Given the description of an element on the screen output the (x, y) to click on. 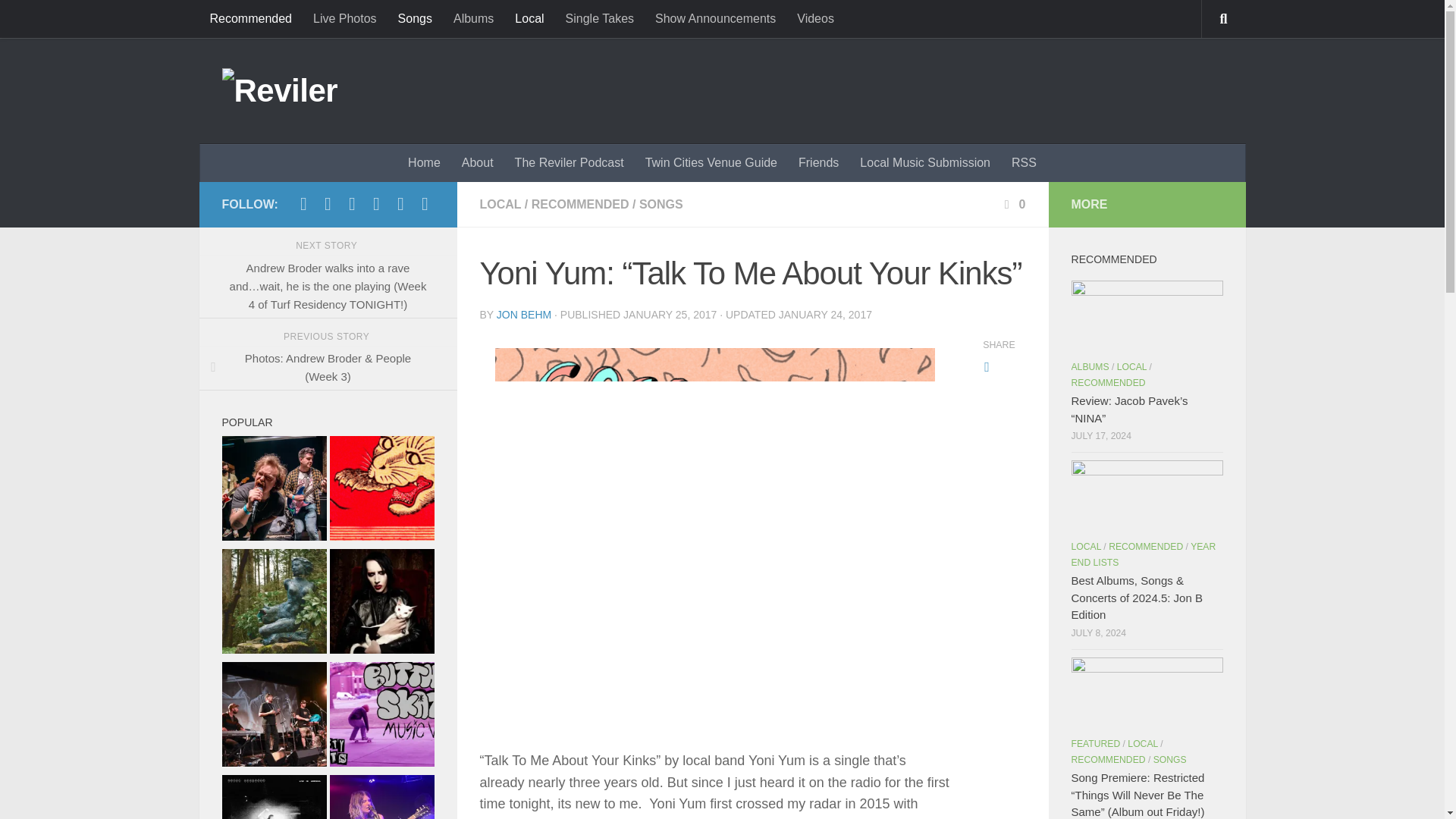
The Reviler Podcast (568, 162)
Clam Glam (513, 818)
Local (528, 18)
RECOMMENDED (579, 204)
Albums (472, 18)
Local Music Submission (924, 162)
Live Photos (344, 18)
Recommended (250, 18)
Friends (817, 162)
LOCAL (500, 204)
